Given the description of an element on the screen output the (x, y) to click on. 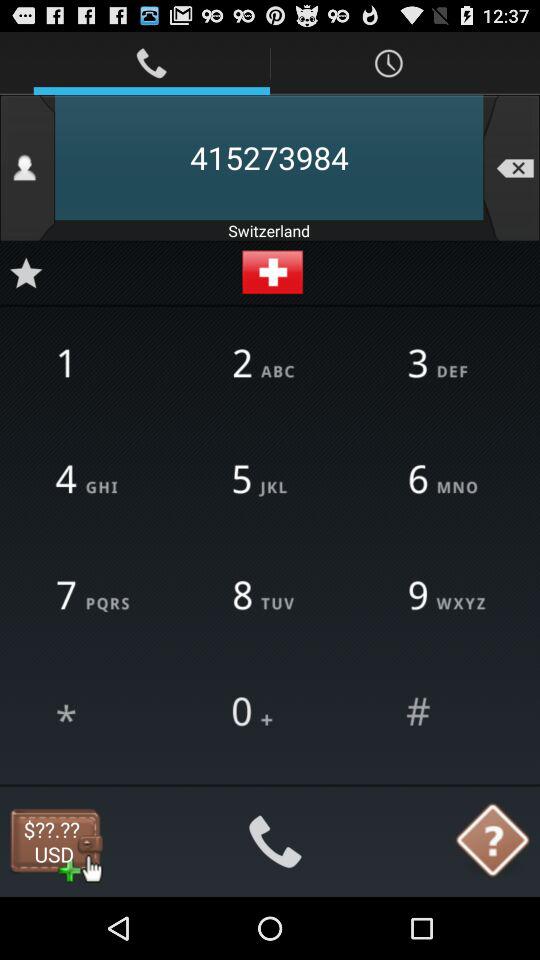
favorite number (26, 272)
